Given the description of an element on the screen output the (x, y) to click on. 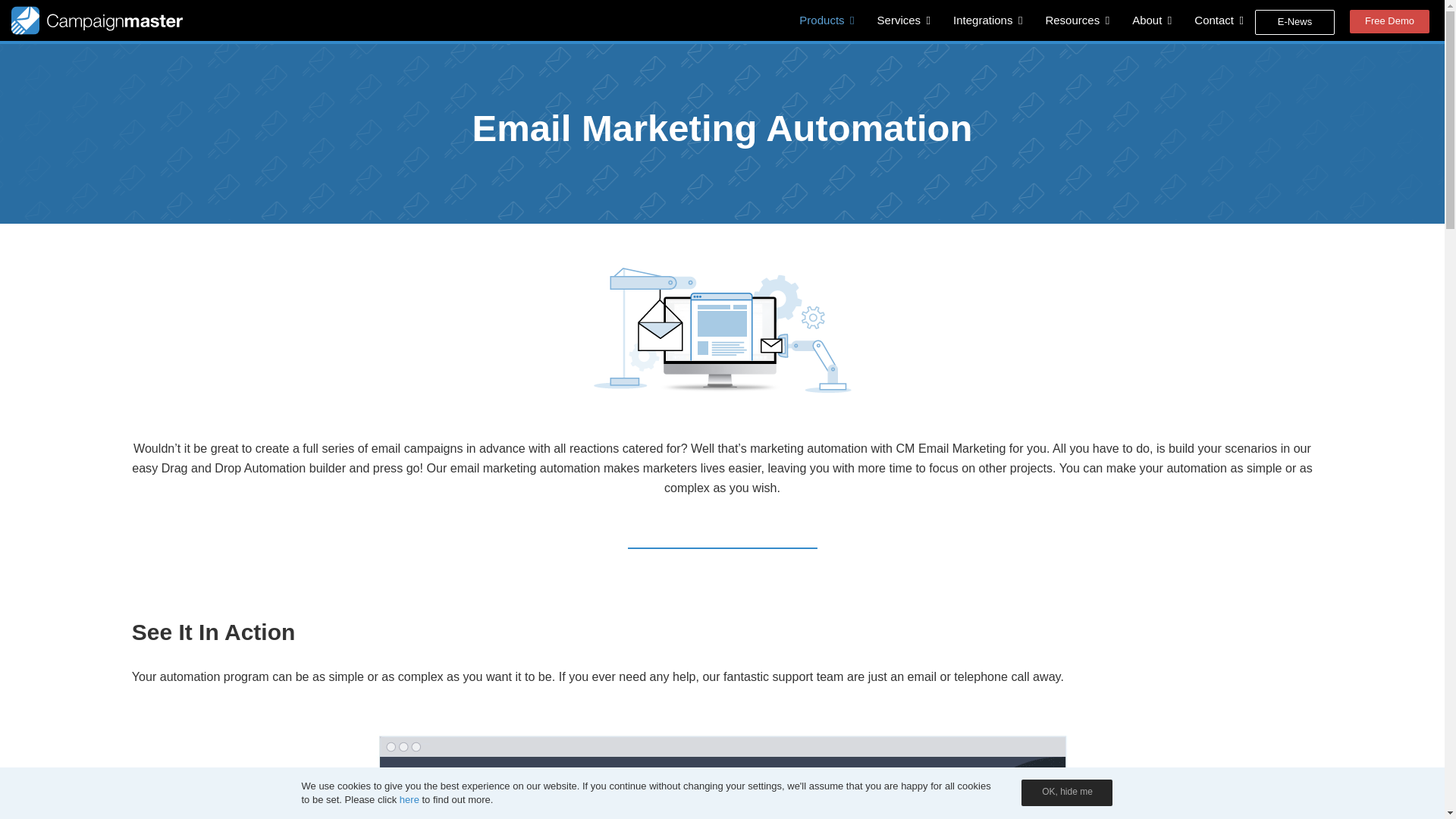
Integrations (987, 19)
Automation Main Image - Campaignmaster (722, 331)
Services (904, 19)
Cookie Policy (408, 799)
Products (825, 19)
Resources (1077, 19)
OK, hide me (1067, 792)
Campaign Master Logo (97, 20)
Automation Flow Animation - Campaignmaster (722, 770)
